Given the description of an element on the screen output the (x, y) to click on. 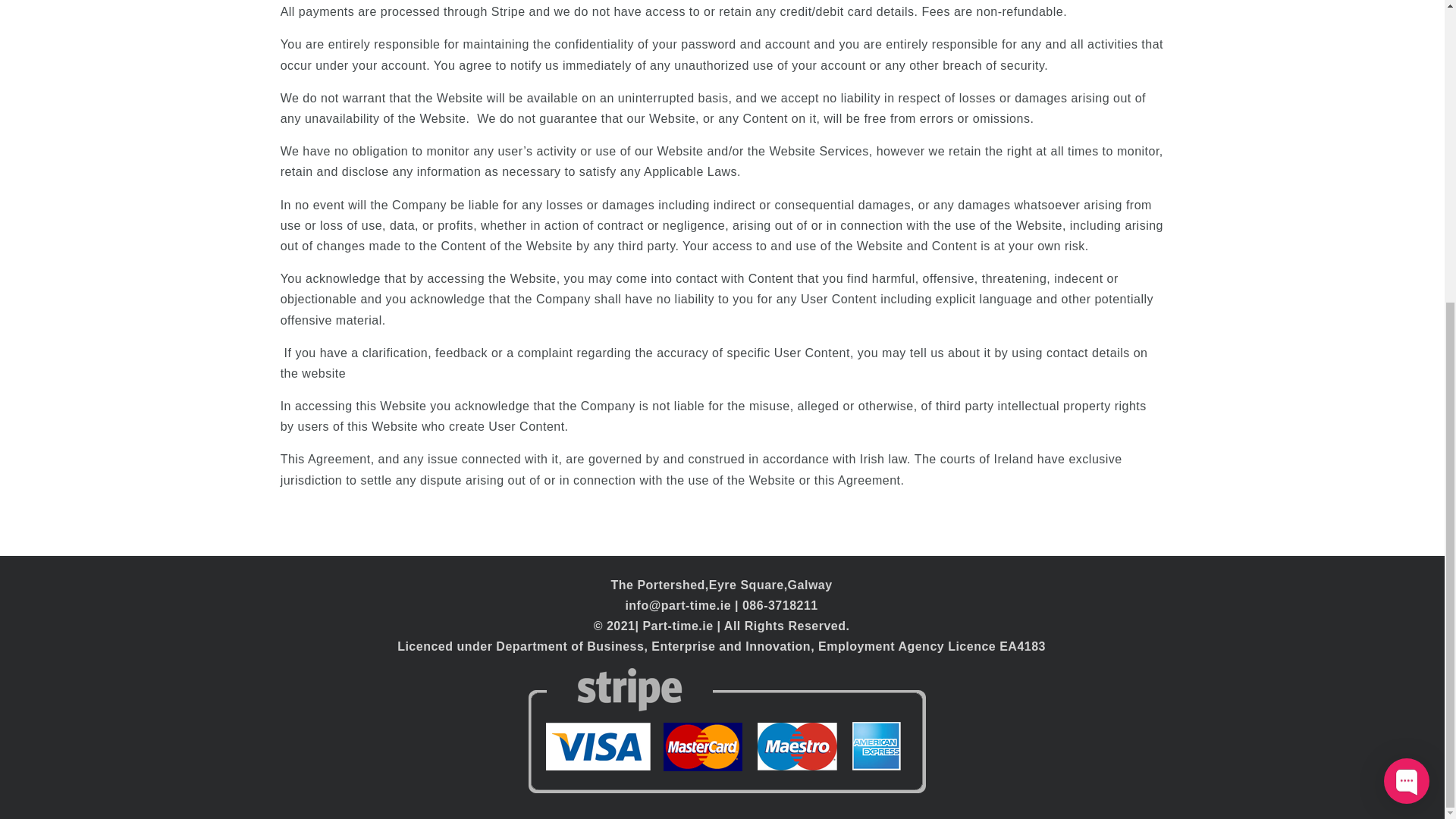
086-3718211 (780, 604)
